Given the description of an element on the screen output the (x, y) to click on. 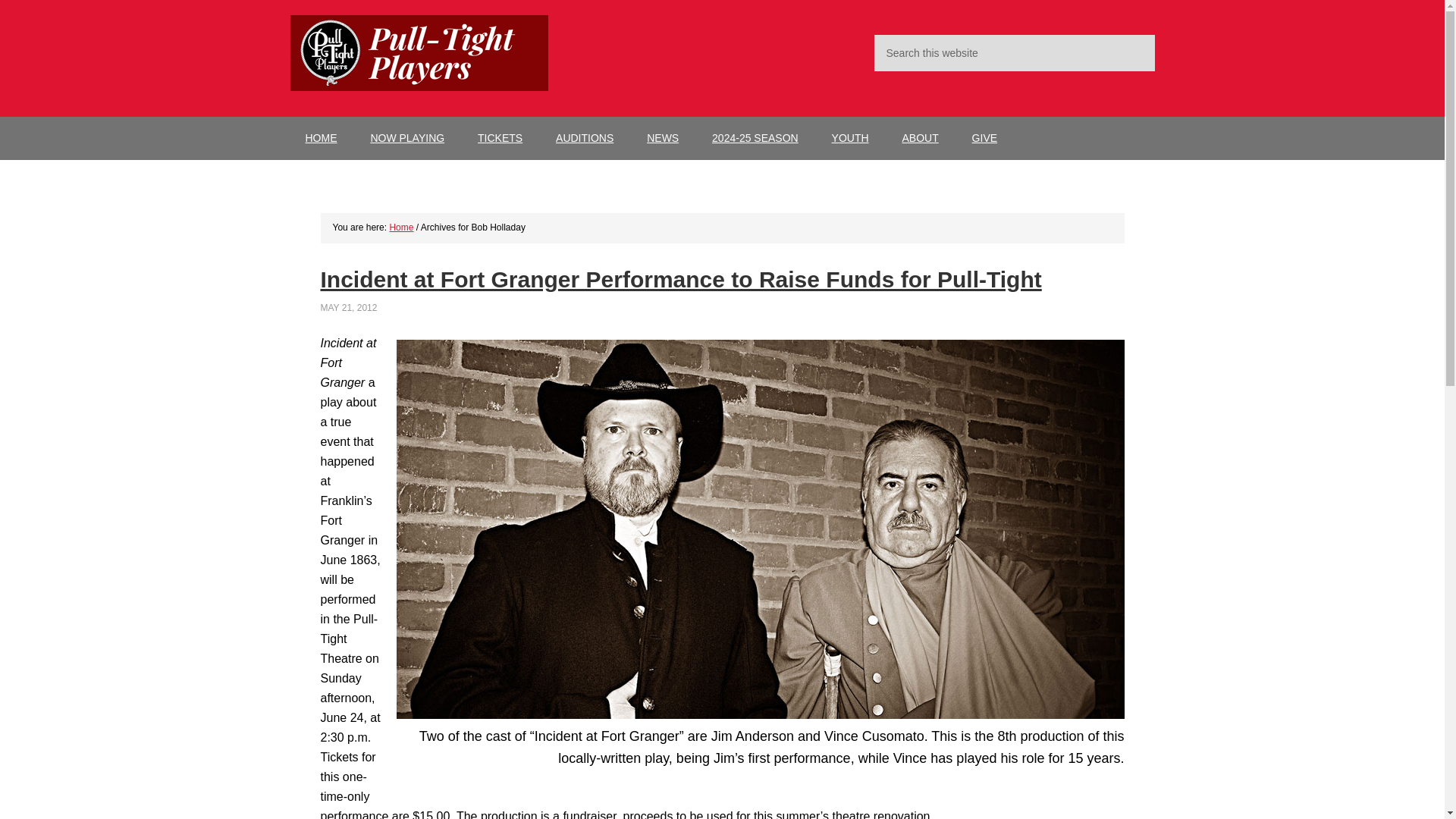
AUDITIONS (584, 138)
NOW PLAYING (407, 138)
TICKETS (500, 138)
GIVE (983, 138)
2024-25 SEASON (755, 138)
NEWS (662, 138)
PULL-TIGHT PLAYERS (418, 52)
